Given the description of an element on the screen output the (x, y) to click on. 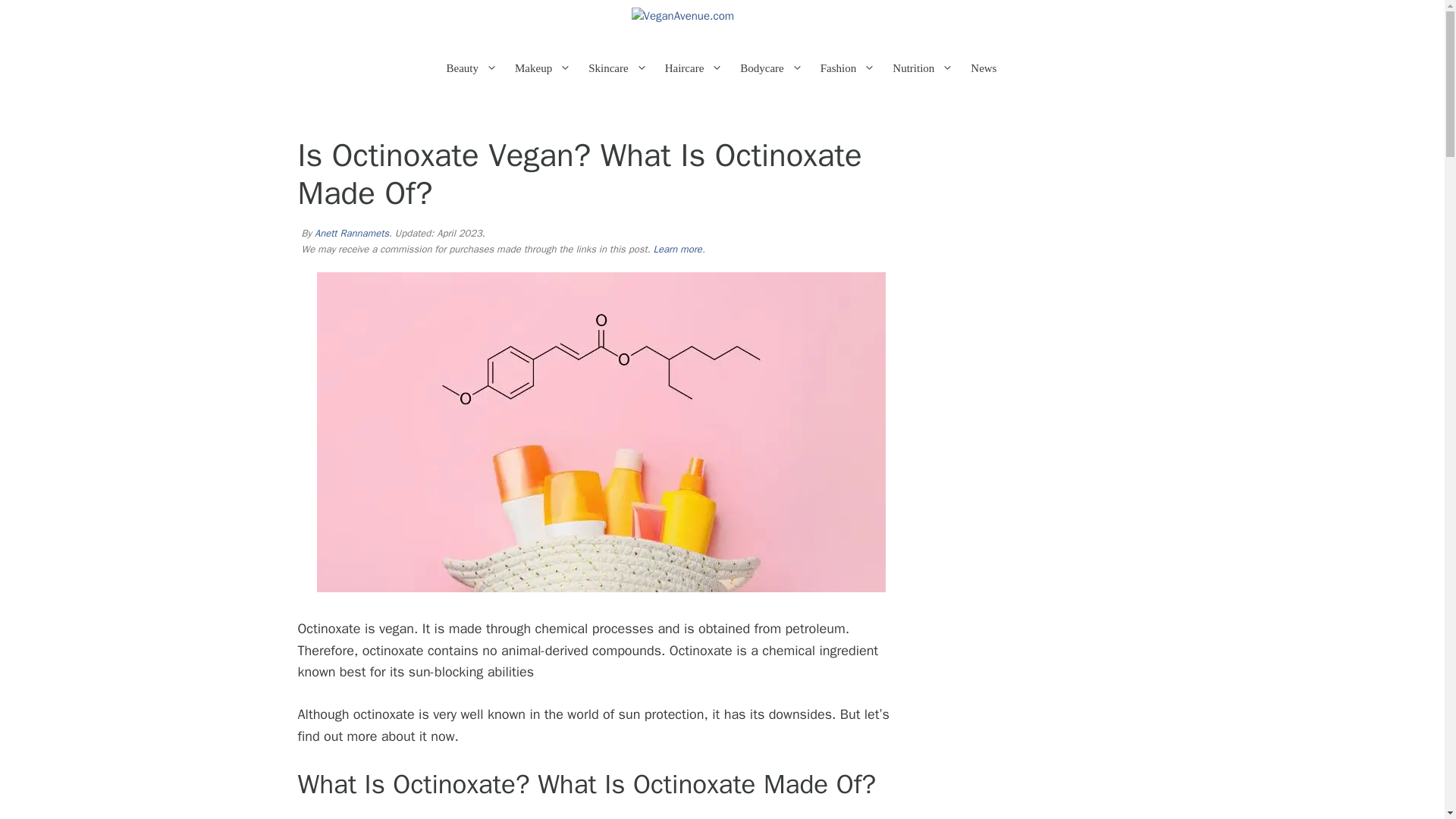
Beauty (478, 67)
Makeup (549, 67)
VeganAvenue.com (721, 22)
